Given the description of an element on the screen output the (x, y) to click on. 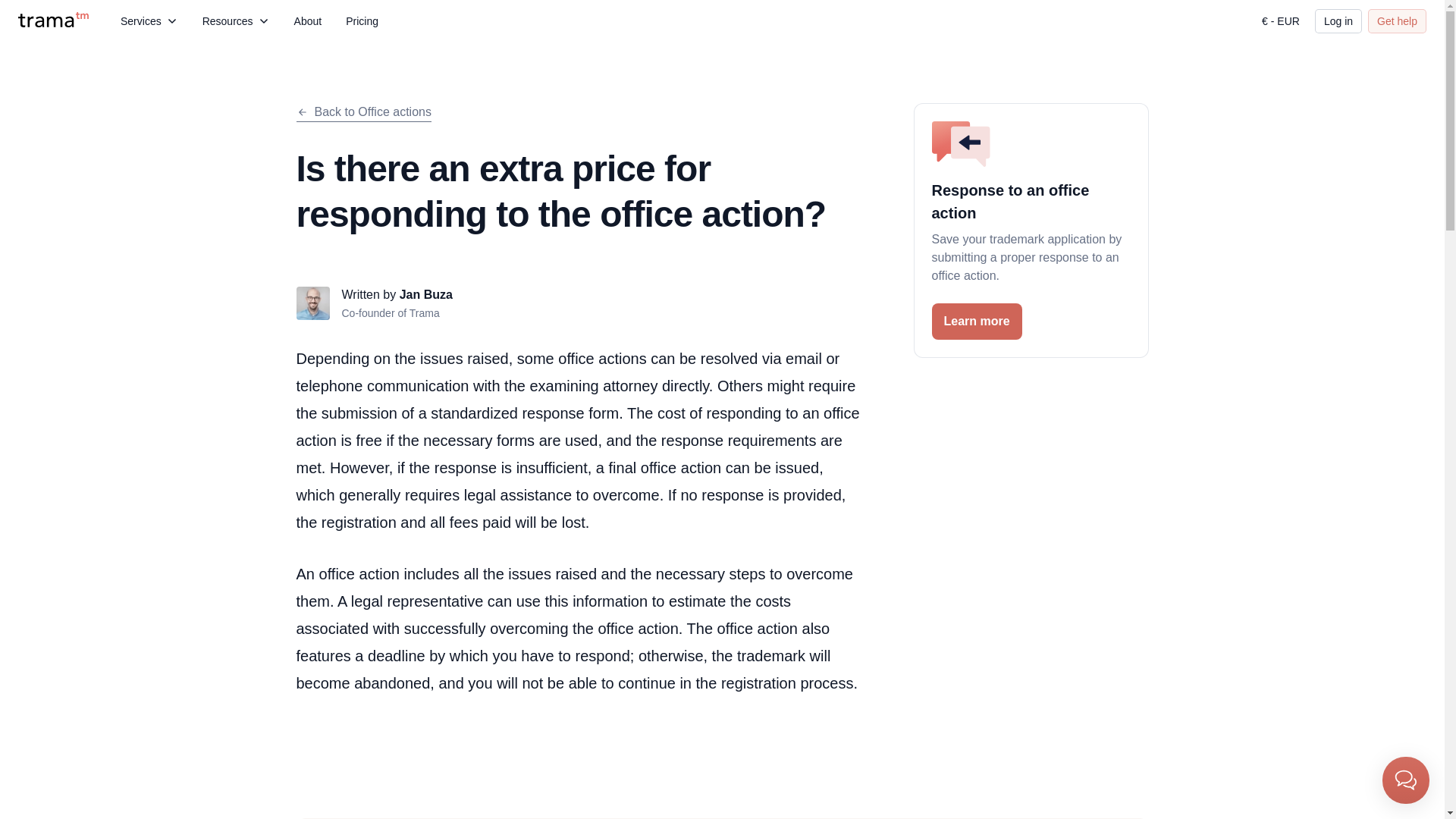
Chat with us (1405, 779)
Resources (236, 21)
Services (149, 21)
